Given the description of an element on the screen output the (x, y) to click on. 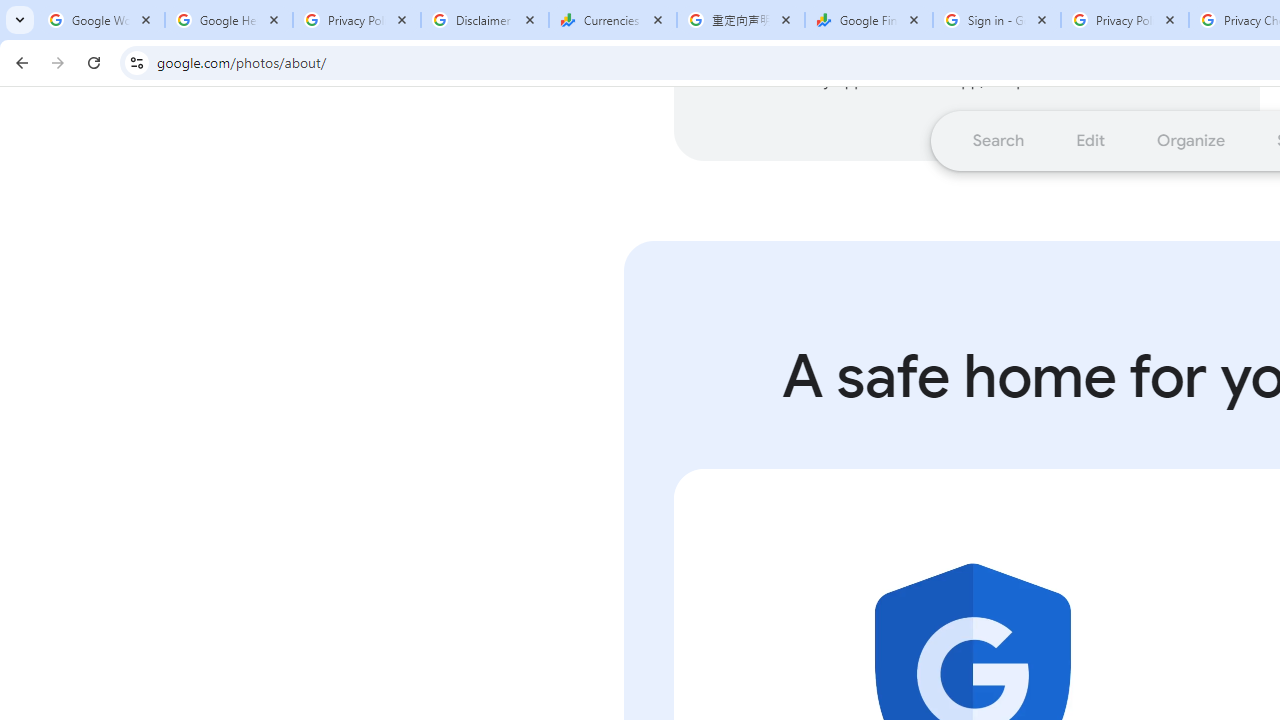
Currencies - Google Finance (613, 20)
Sign in - Google Accounts (997, 20)
Google Workspace Admin Community (101, 20)
Go to section: Edit (1090, 140)
